Given the description of an element on the screen output the (x, y) to click on. 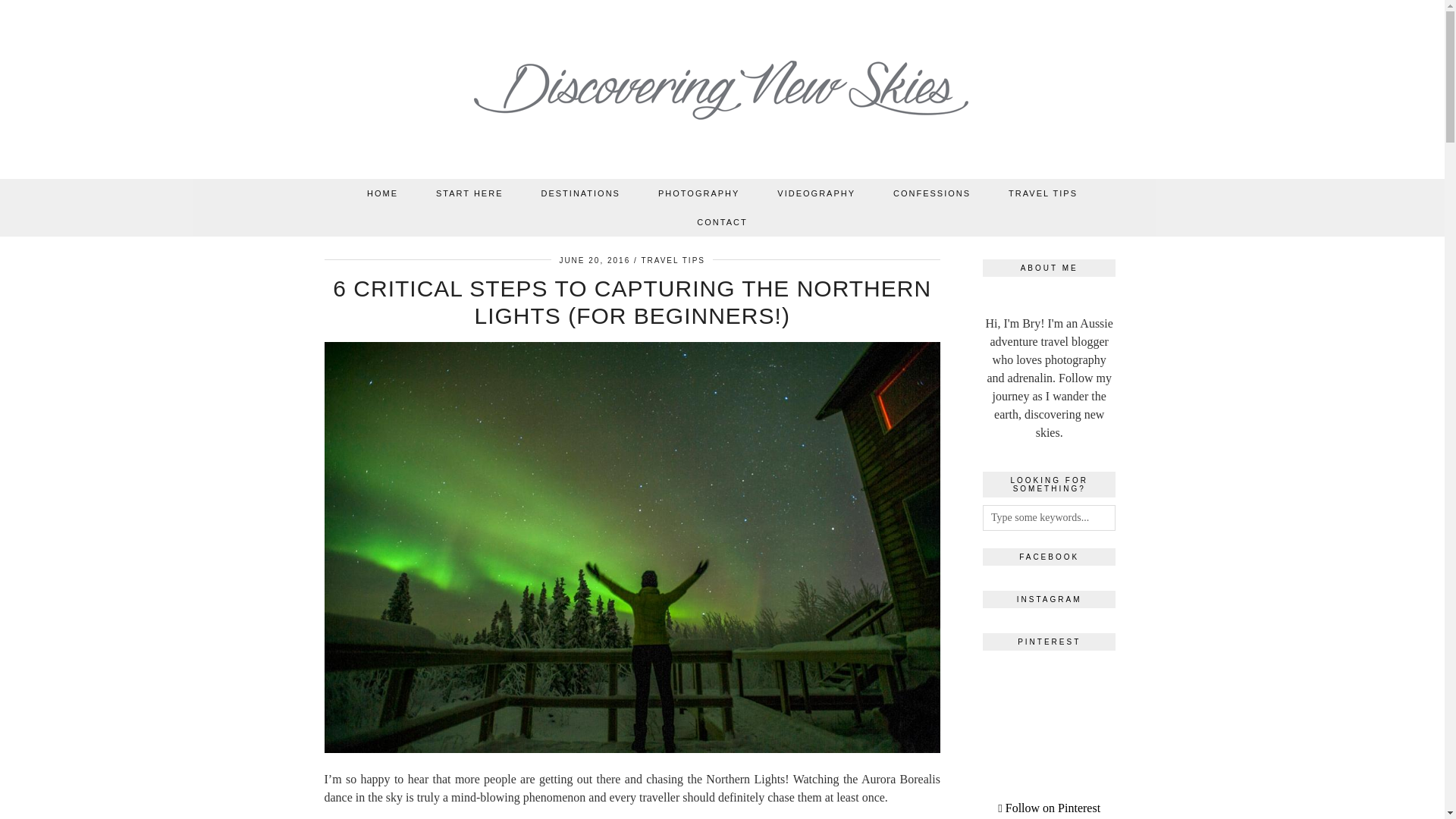
PHOTOGRAPHY (698, 193)
CONTACT (721, 222)
DESTINATIONS (580, 193)
VIDEOGRAPHY (816, 193)
START HERE (468, 193)
TRAVEL TIPS (672, 260)
HOME (381, 193)
CONFESSIONS (932, 193)
TRAVEL TIPS (1043, 193)
Discovering New Skies (722, 92)
